Given the description of an element on the screen output the (x, y) to click on. 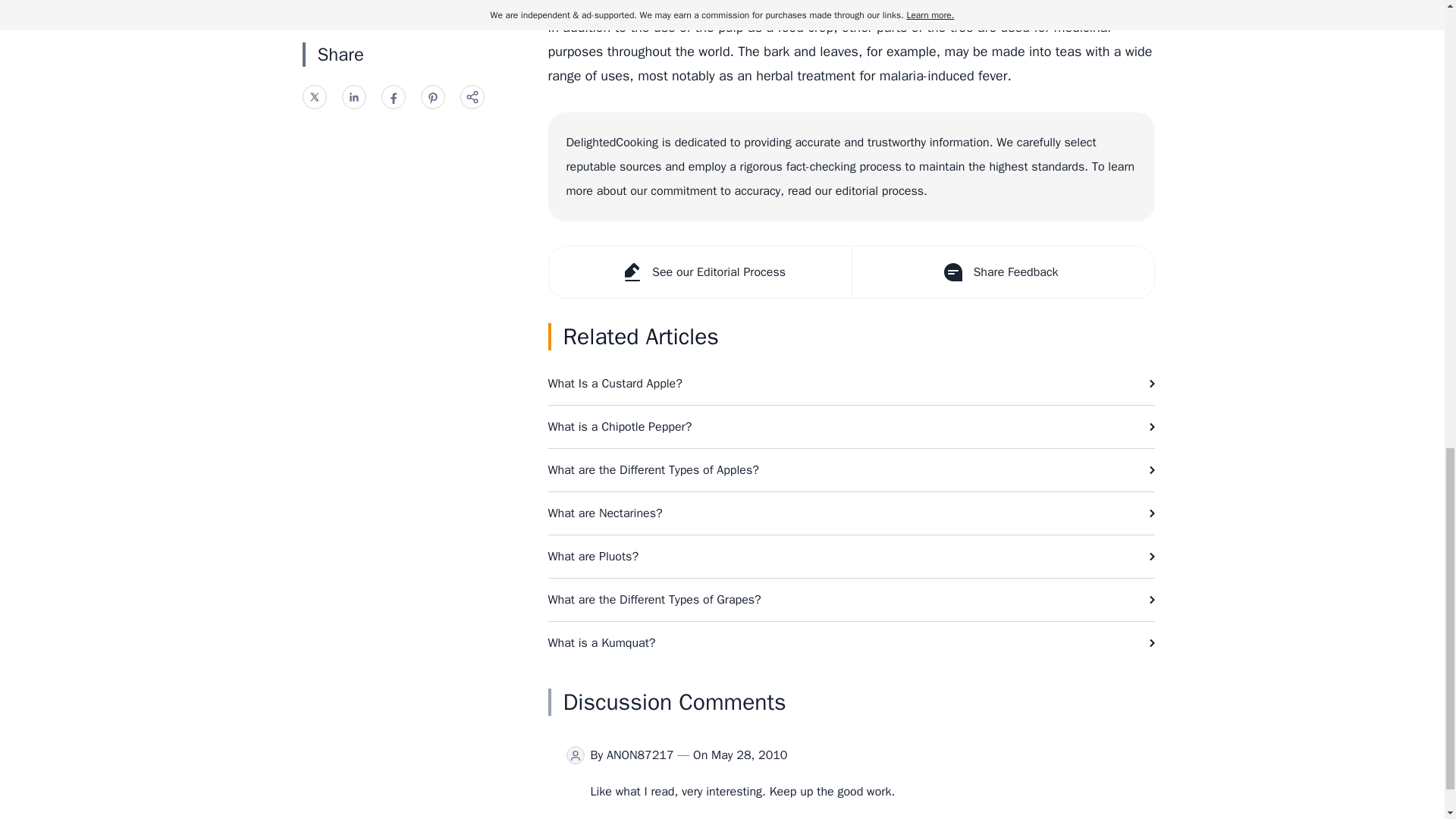
What is a Chipotle Pepper? (850, 426)
What are the Different Types of Grapes? (850, 599)
What is a Kumquat? (850, 642)
What are the Different Types of Apples? (850, 469)
What Is a Custard Apple? (850, 383)
See our Editorial Process (699, 272)
Share Feedback (1001, 272)
What are Nectarines? (850, 513)
What are Pluots? (850, 556)
